Given the description of an element on the screen output the (x, y) to click on. 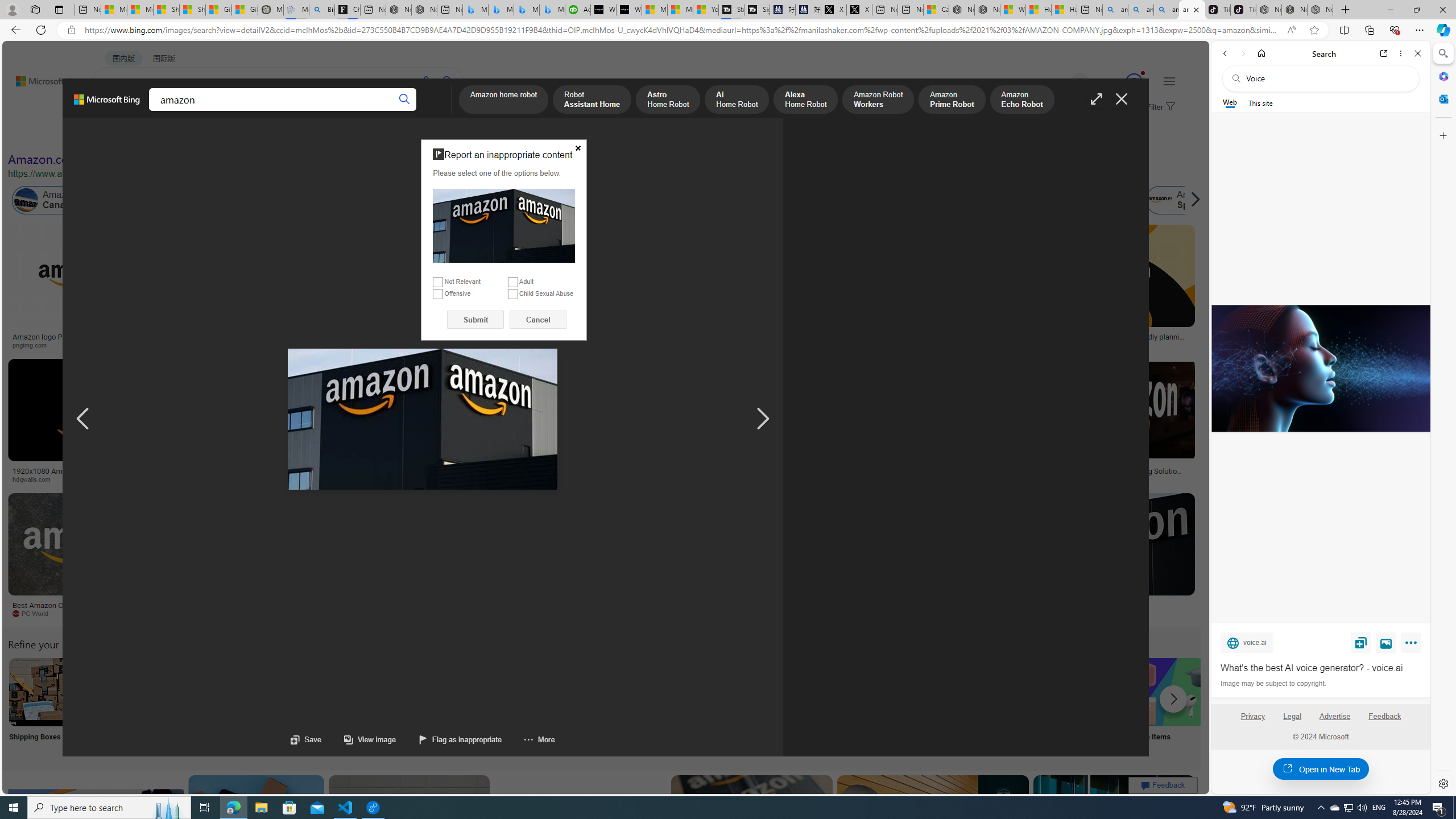
Amazon Echo Robot (1022, 100)
Amazon Shipping Boxes (42, 691)
Two Reasons Why Retailers Need to Leverage Amazon (224, 340)
Class: item col (1183, 199)
Amazonprotothema.grSave (1104, 557)
Amazon Online Shopping Search Online Shopping Search (118, 706)
Amazon Robot Workers (878, 100)
License (378, 135)
Listen: What's next for Amazon?usatoday.comSave (406, 289)
